Given the description of an element on the screen output the (x, y) to click on. 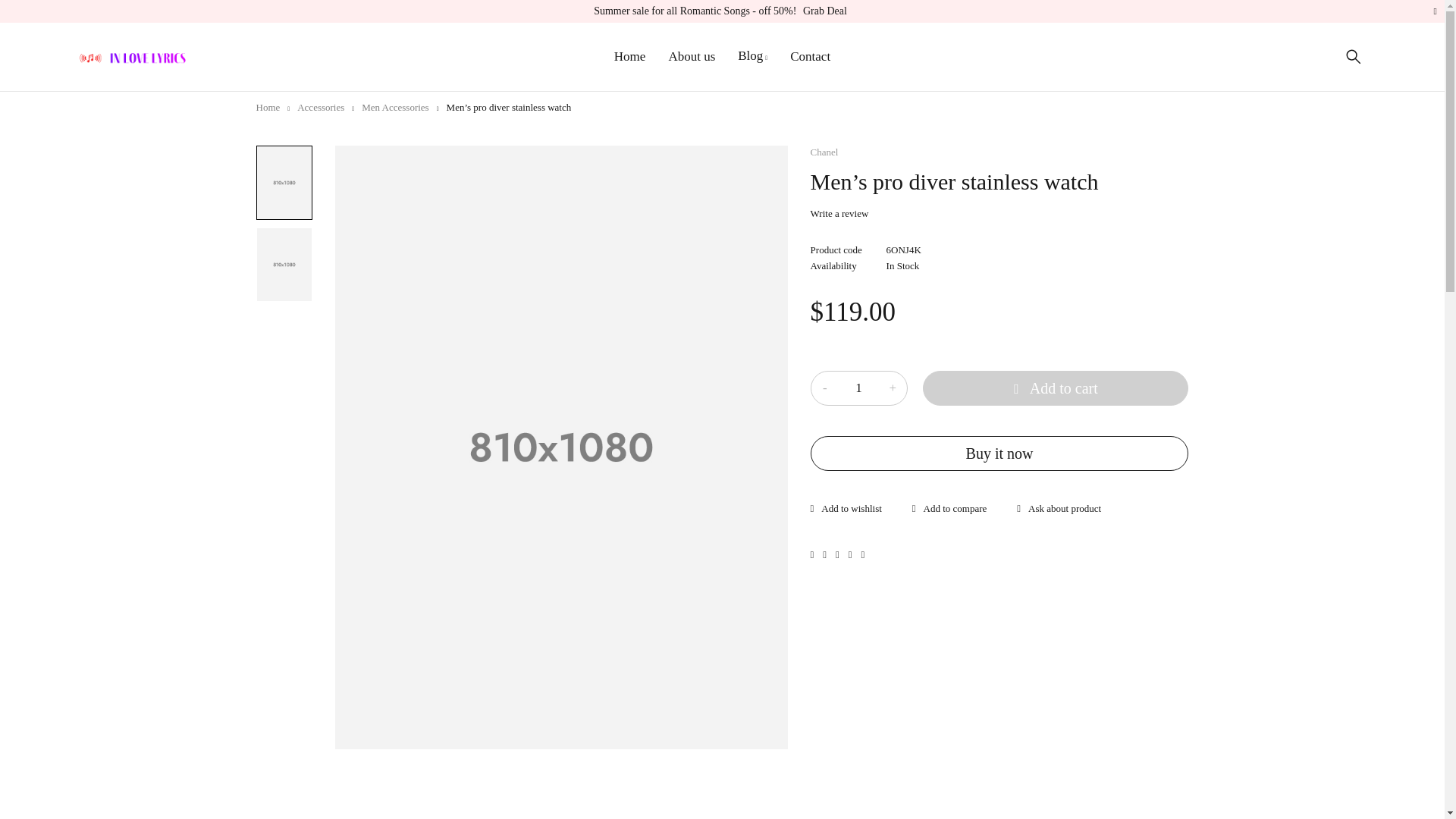
Yobazar (132, 56)
1 (858, 388)
- (825, 388)
